Given the description of an element on the screen output the (x, y) to click on. 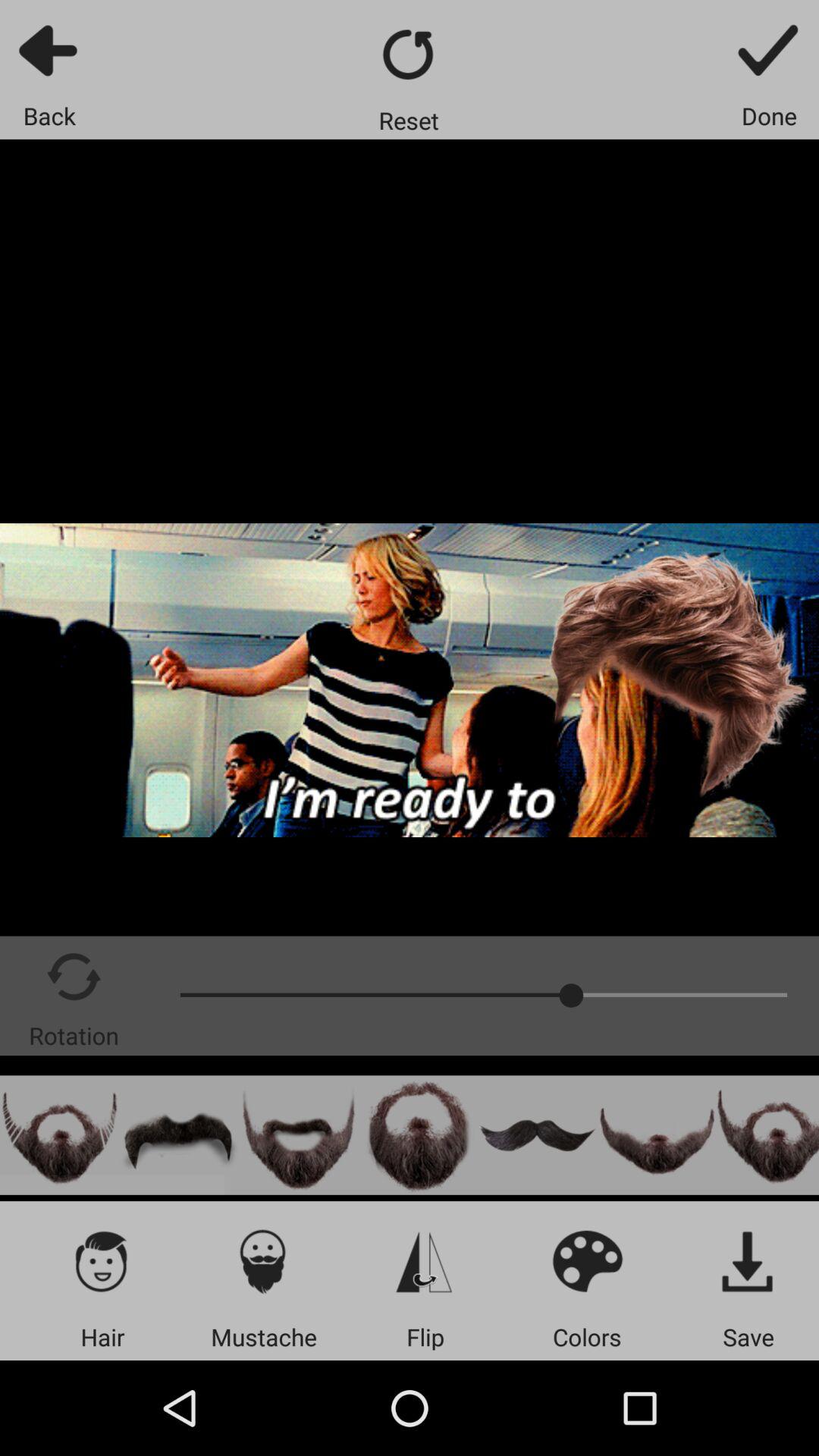
click on icon above mustache at bottom (263, 1260)
click on reset icon (408, 53)
